Given the description of an element on the screen output the (x, y) to click on. 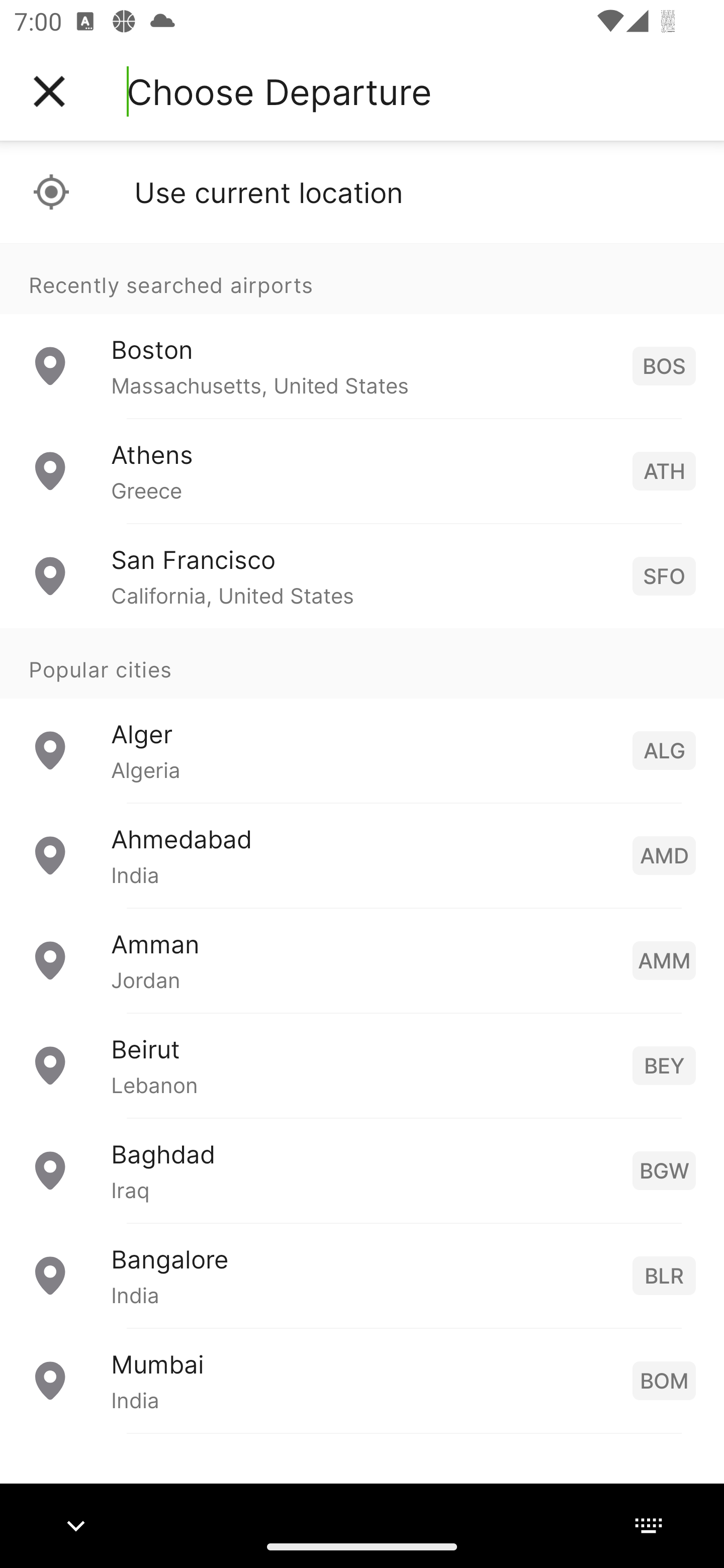
Choose Departure (279, 91)
Use current location (362, 192)
Recently searched airports (362, 278)
Athens Greece ATH (362, 470)
San Francisco California, United States SFO (362, 575)
Popular cities Alger Algeria ALG (362, 715)
Popular cities (362, 663)
Ahmedabad India AMD (362, 854)
Amman Jordan AMM (362, 959)
Beirut Lebanon BEY (362, 1064)
Baghdad Iraq BGW (362, 1170)
Bangalore India BLR (362, 1275)
Mumbai India BOM (362, 1380)
